Given the description of an element on the screen output the (x, y) to click on. 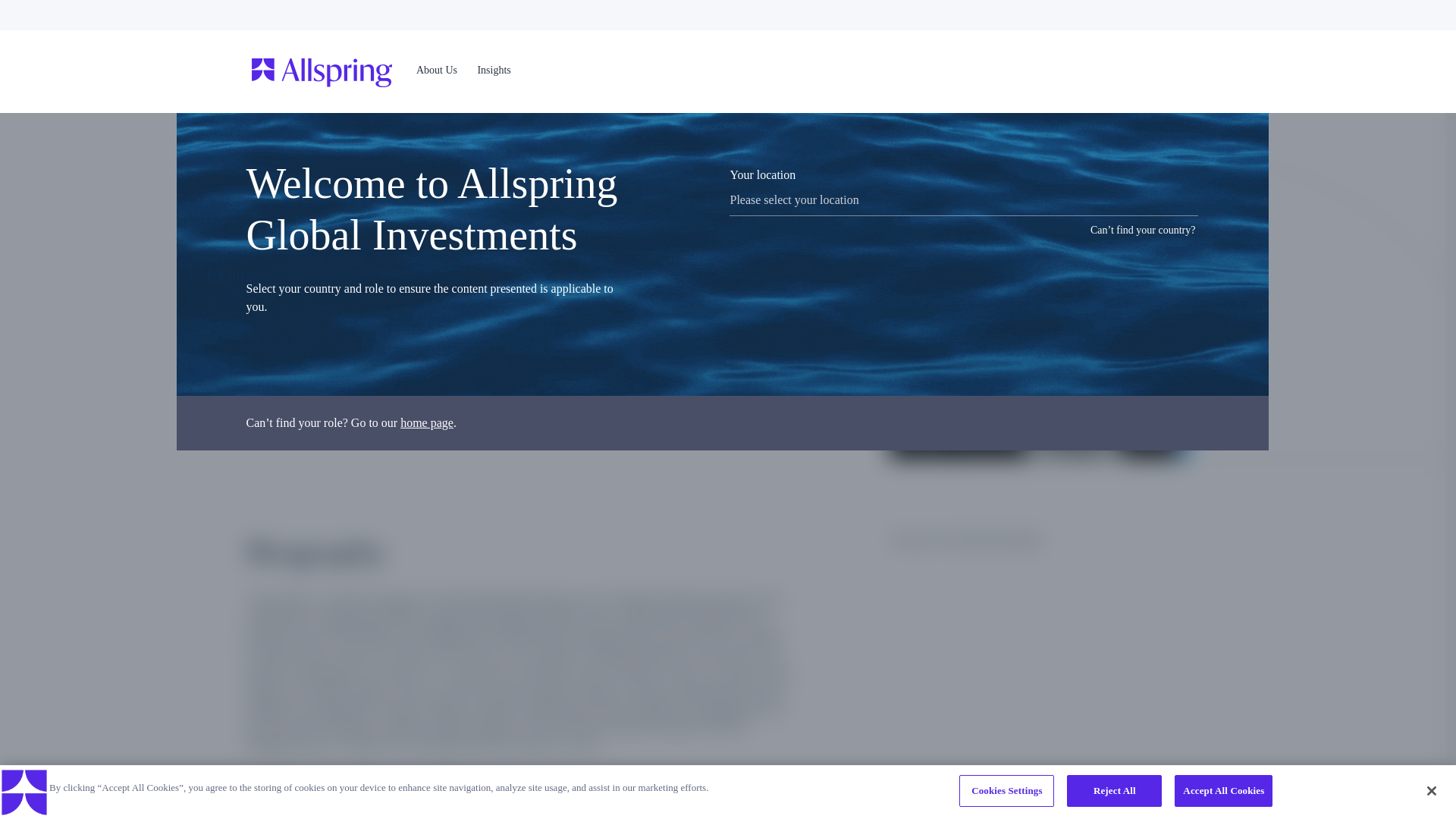
Insights (494, 71)
About Us (437, 71)
About Us (432, 71)
Please select your location (963, 200)
Insights (493, 71)
About Us (436, 69)
Insights (494, 69)
